Given the description of an element on the screen output the (x, y) to click on. 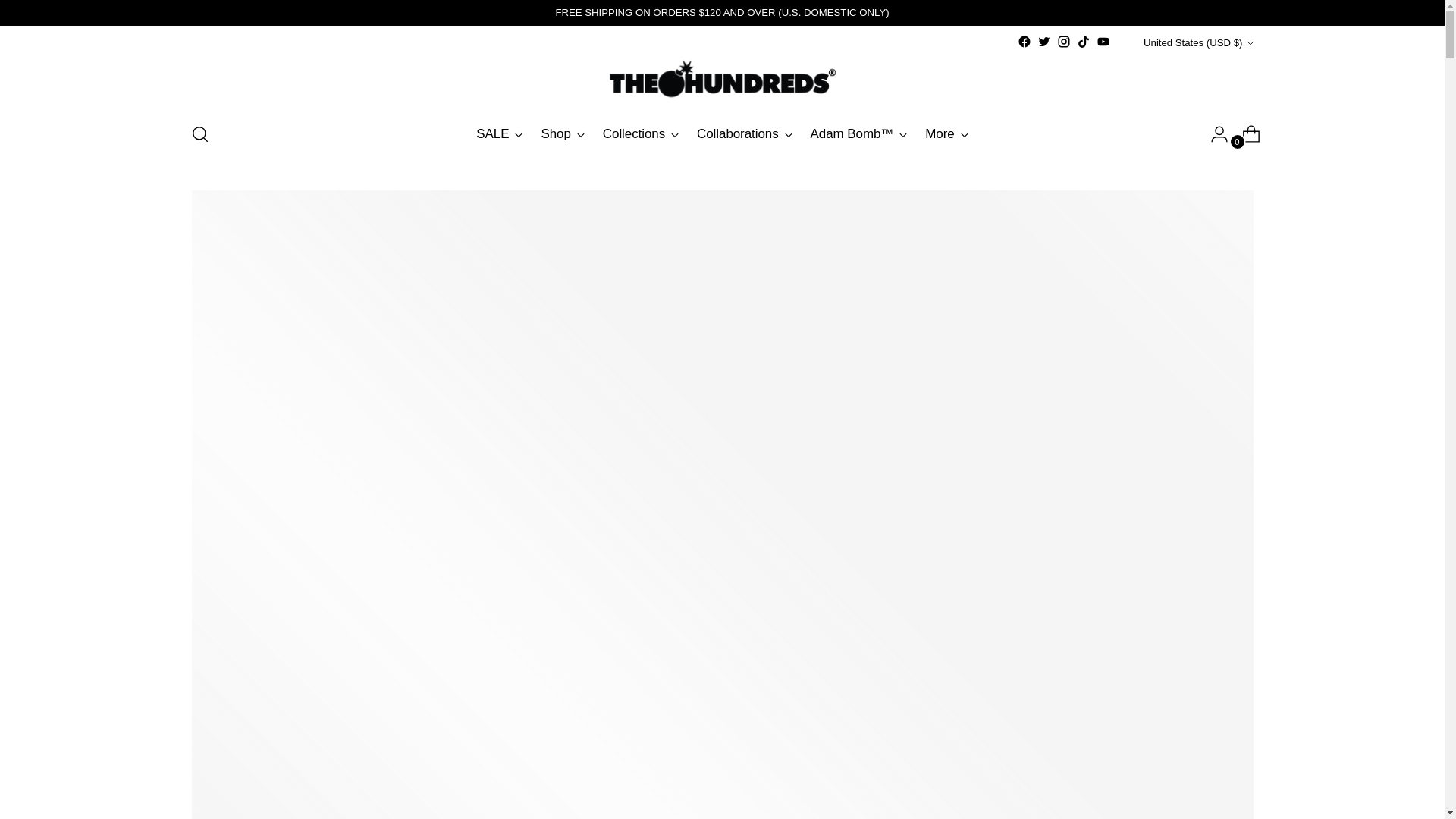
The Hundreds on Facebook (1023, 41)
The Hundreds on YouTube (1102, 41)
The Hundreds on Instagram (1063, 41)
The Hundreds on Twitter (1043, 41)
The Hundreds on Tiktok (1083, 41)
